Given the description of an element on the screen output the (x, y) to click on. 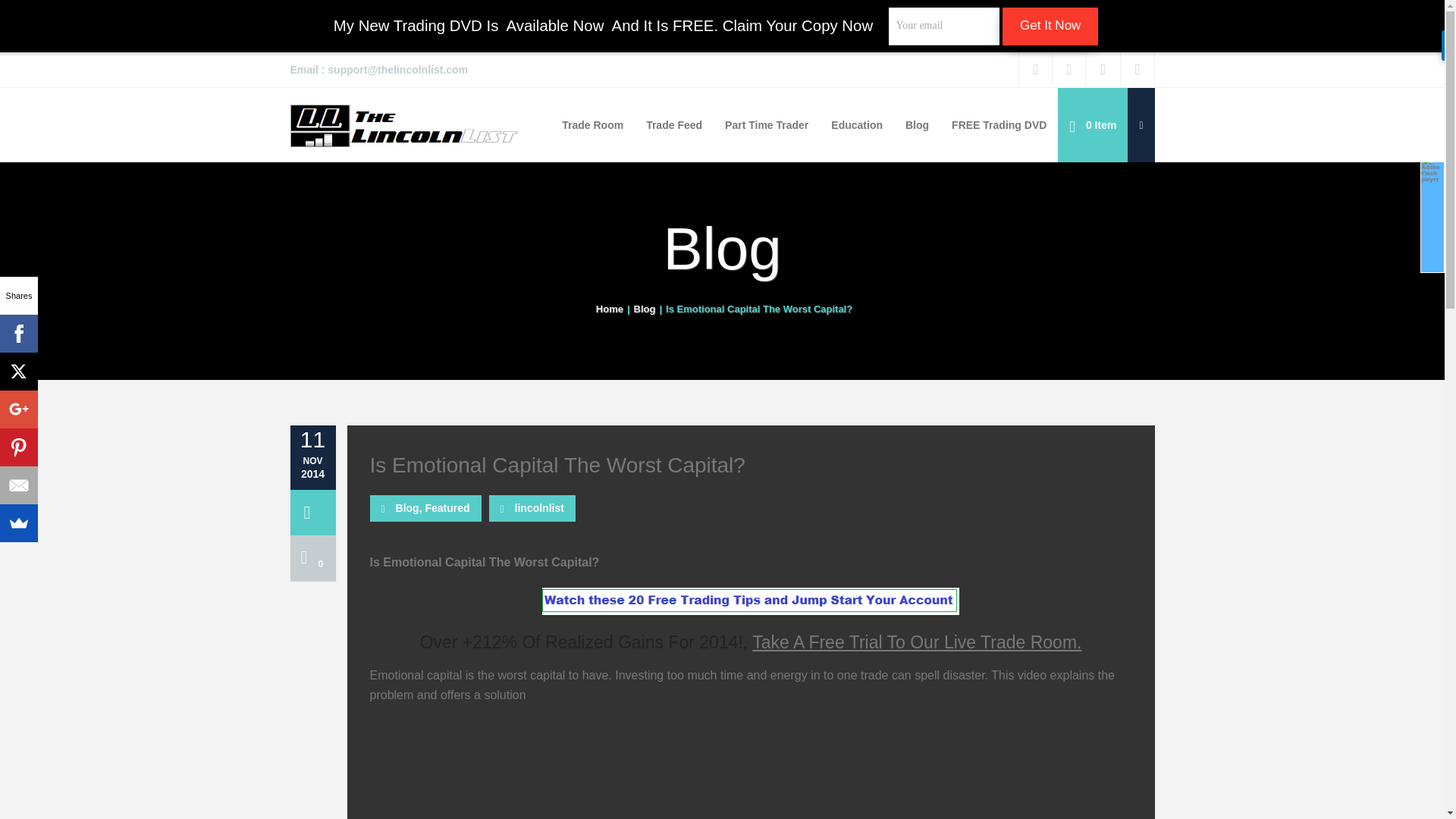
SumoMe (18, 523)
Trade Room (592, 124)
Education (856, 124)
Trade Feed (673, 124)
X (18, 371)
Featured (446, 508)
Is Emotional Capital The Worst Capital? (750, 464)
Facebook (18, 333)
Blog (644, 308)
Home (609, 308)
0 Item (1092, 124)
Part Time Trader (766, 124)
Pinterest (18, 447)
The Lincoln List (402, 124)
lincolnlist (539, 508)
